Given the description of an element on the screen output the (x, y) to click on. 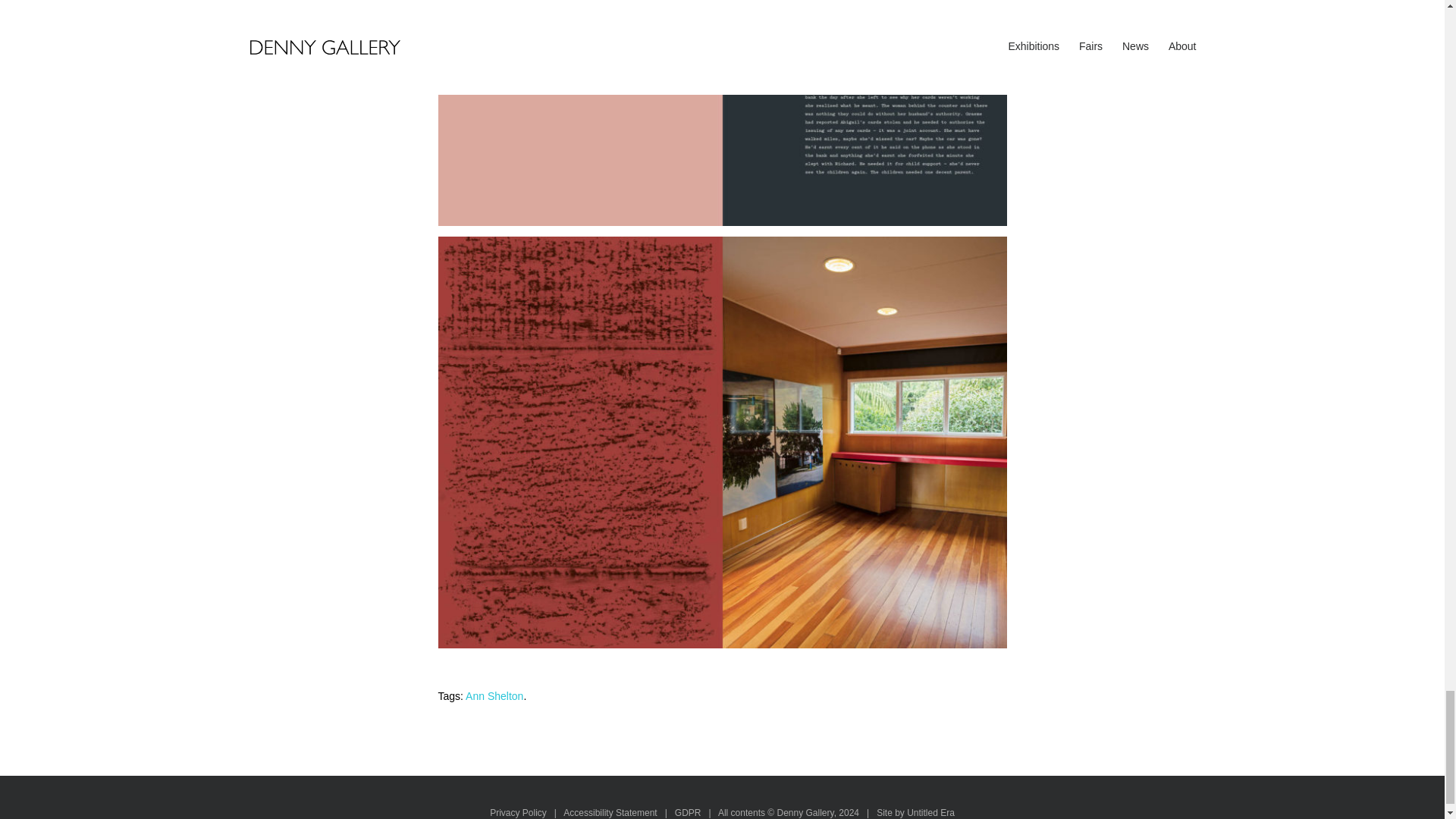
Privacy Policy (518, 812)
GDPR (688, 812)
Ann Shelton (493, 695)
Untitled Era (931, 812)
Accessibility Statement (609, 812)
